Given the description of an element on the screen output the (x, y) to click on. 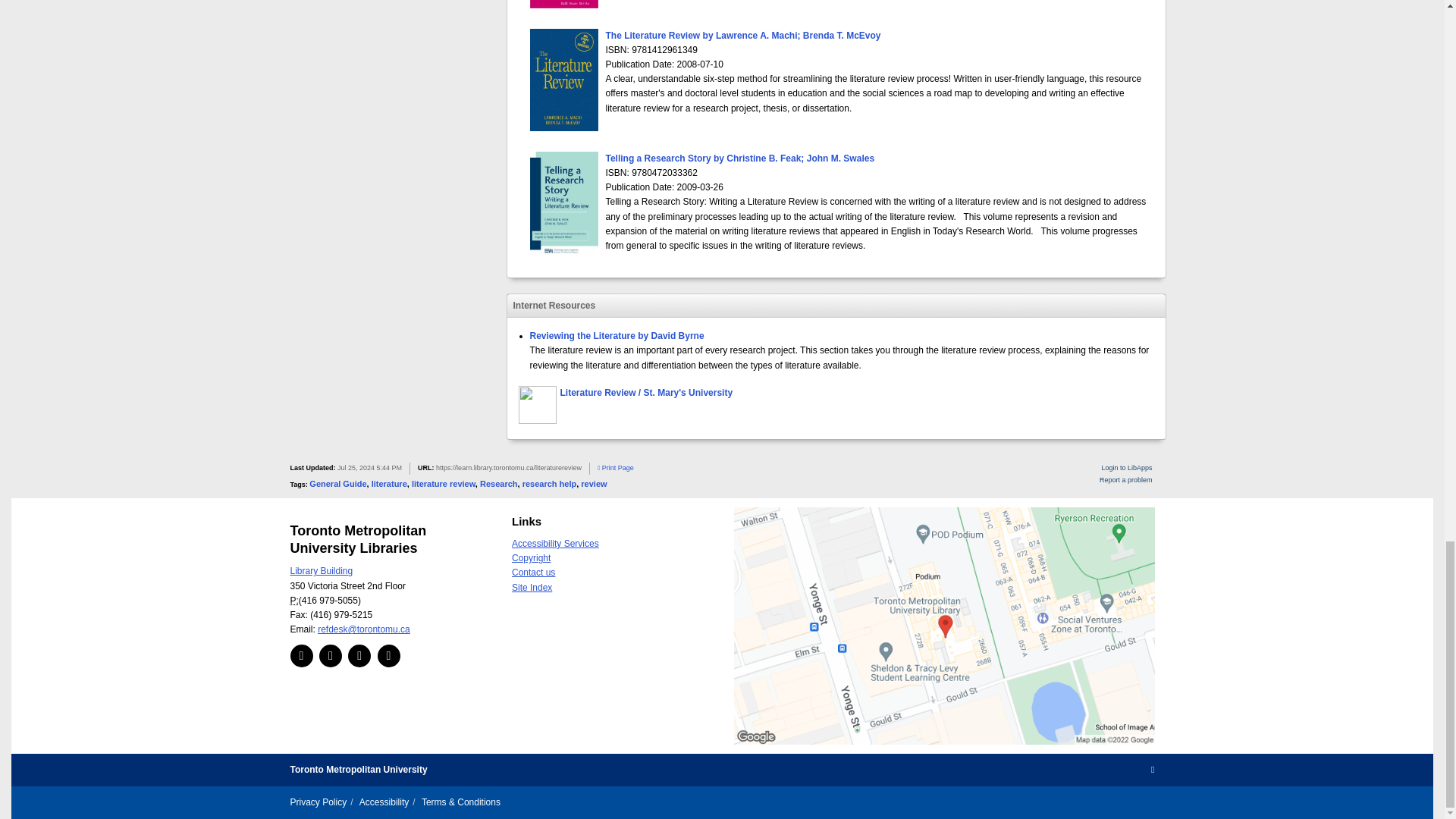
Reviewing the Literature by David Byrne (616, 335)
The Literature Review by Lawrence A. Machi; Brenda T. McEvoy (742, 35)
